Given the description of an element on the screen output the (x, y) to click on. 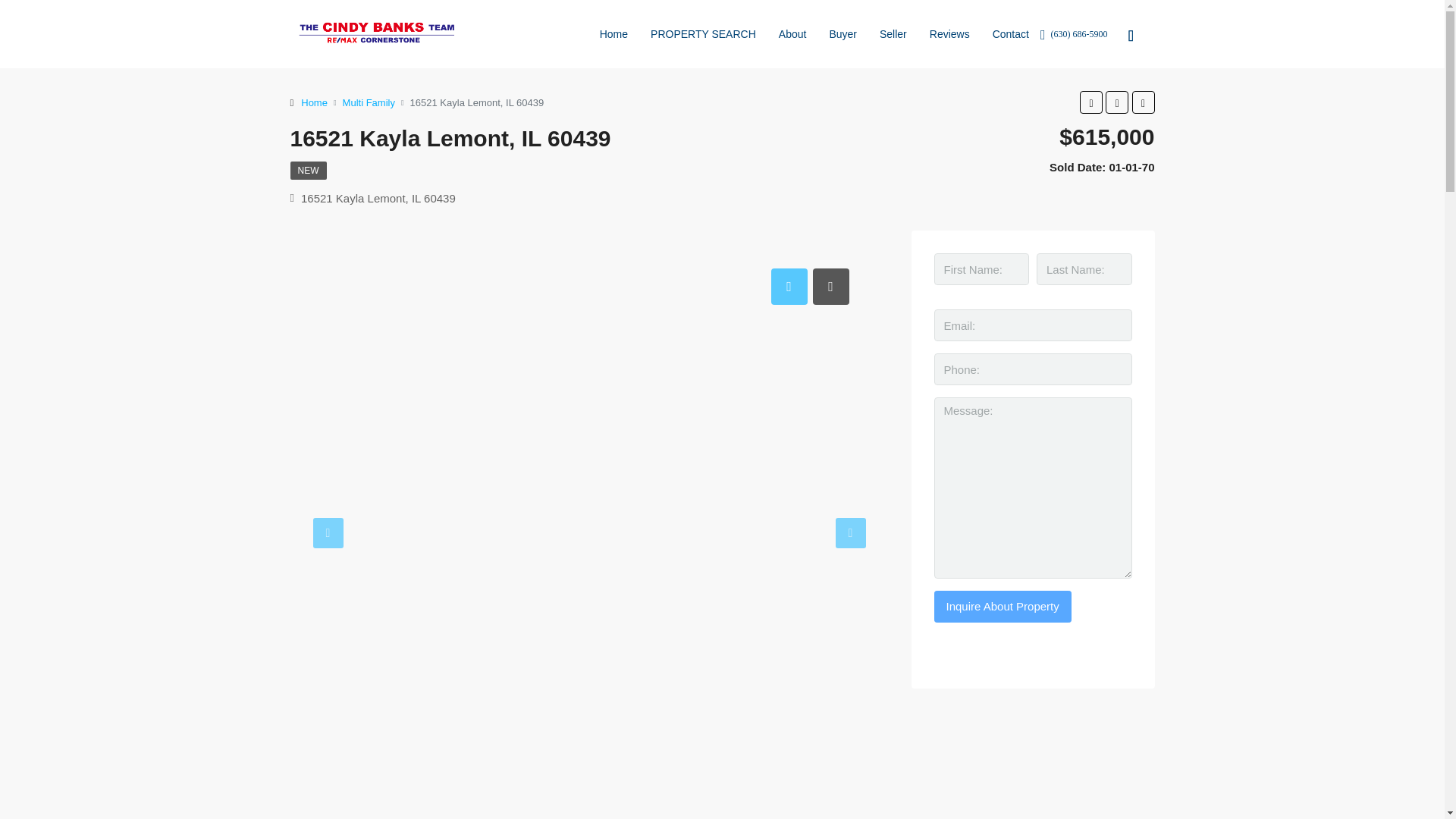
Multi Family (368, 101)
NEW (307, 170)
Home (314, 101)
Reviews (949, 33)
Inquire About Property (1002, 606)
PROPERTY SEARCH (703, 33)
